Given the description of an element on the screen output the (x, y) to click on. 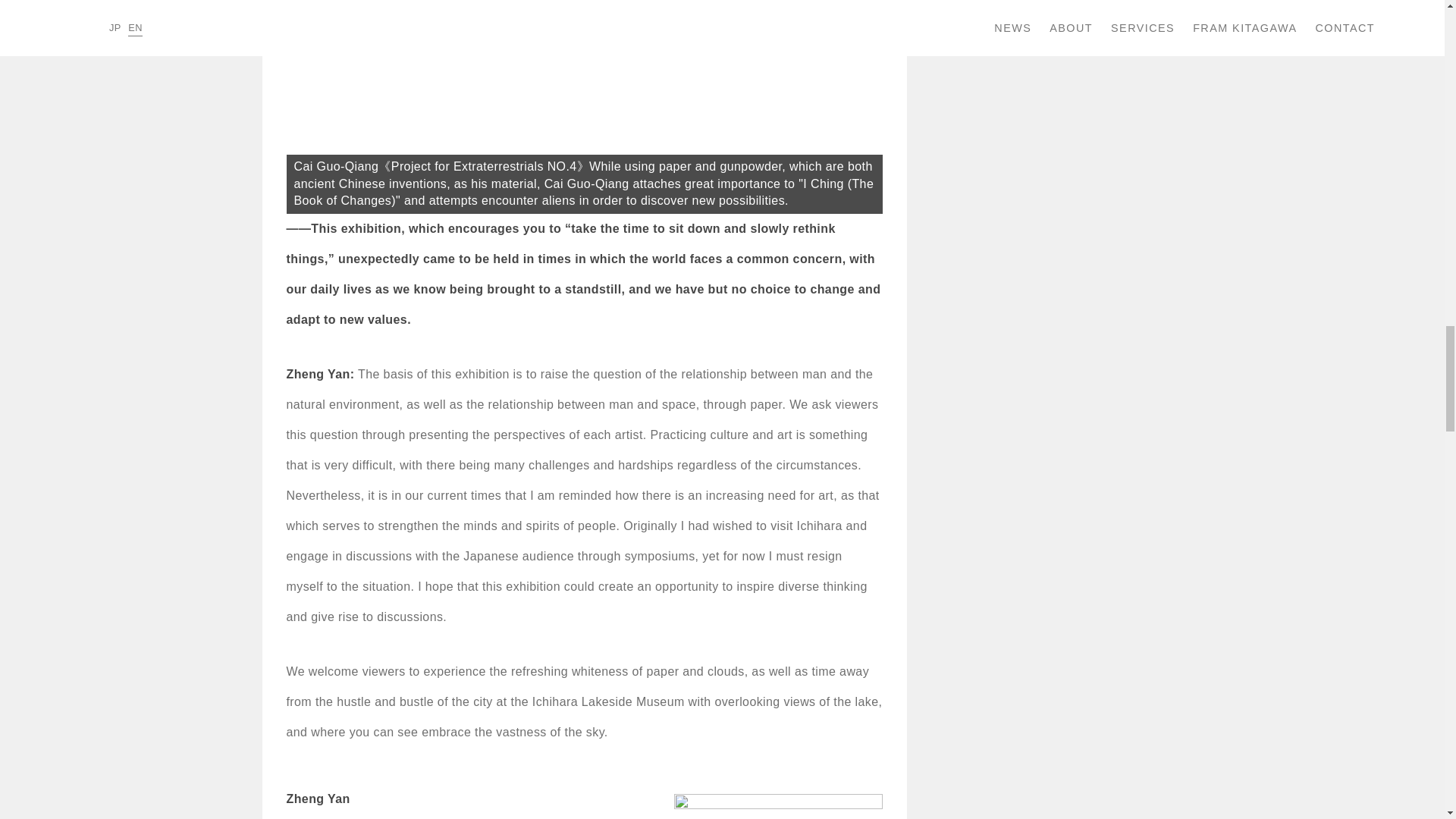
F (584, 106)
